Given the description of an element on the screen output the (x, y) to click on. 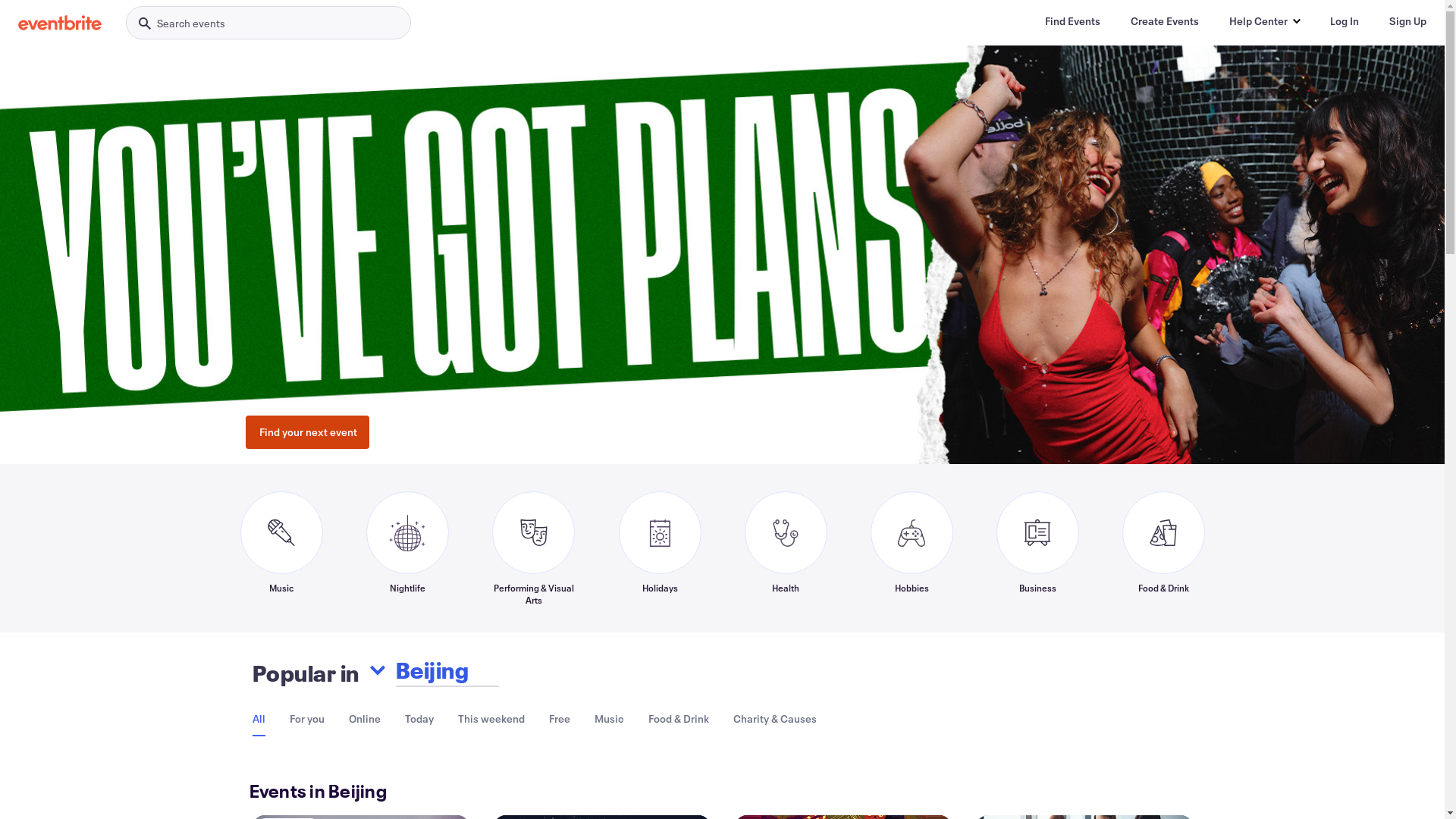
For you Element type: text (306, 718)
Food & Drink Element type: text (677, 718)
Music Element type: text (609, 718)
Music Element type: text (280, 548)
This weekend Element type: text (491, 718)
All Element type: text (257, 719)
Free Element type: text (559, 718)
Eventbrite Element type: hover (59, 22)
Online Element type: text (364, 718)
Sign Up Element type: text (1407, 21)
Holidays Element type: text (659, 548)
Find Events Element type: text (1072, 21)
Health Element type: text (785, 548)
Find your next event Element type: text (307, 431)
Today Element type: text (418, 718)
Log In Element type: text (1344, 21)
Business Element type: text (1037, 548)
Charity & Causes Element type: text (773, 718)
Create Events Element type: text (1164, 21)
Hobbies Element type: text (911, 548)
Nightlife Element type: text (406, 548)
Search events Element type: text (268, 22)
Performing & Visual Arts Element type: text (532, 548)
Food & Drink Element type: text (1163, 548)
